Given the description of an element on the screen output the (x, y) to click on. 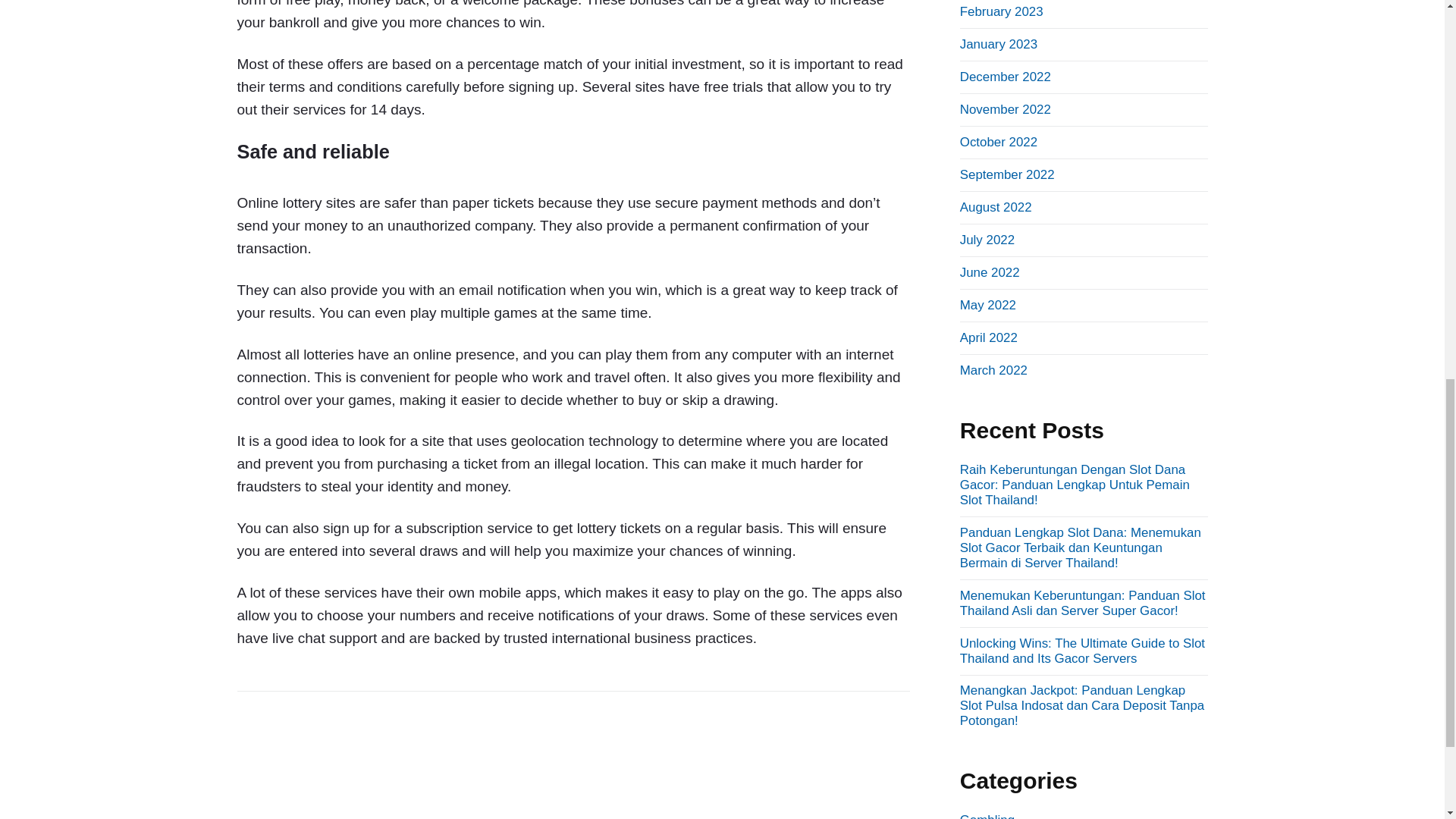
January 2023 (997, 43)
February 2023 (1001, 11)
December 2022 (1005, 76)
June 2022 (989, 272)
August 2022 (995, 206)
March 2022 (993, 370)
May 2022 (987, 305)
September 2022 (1006, 174)
